Given the description of an element on the screen output the (x, y) to click on. 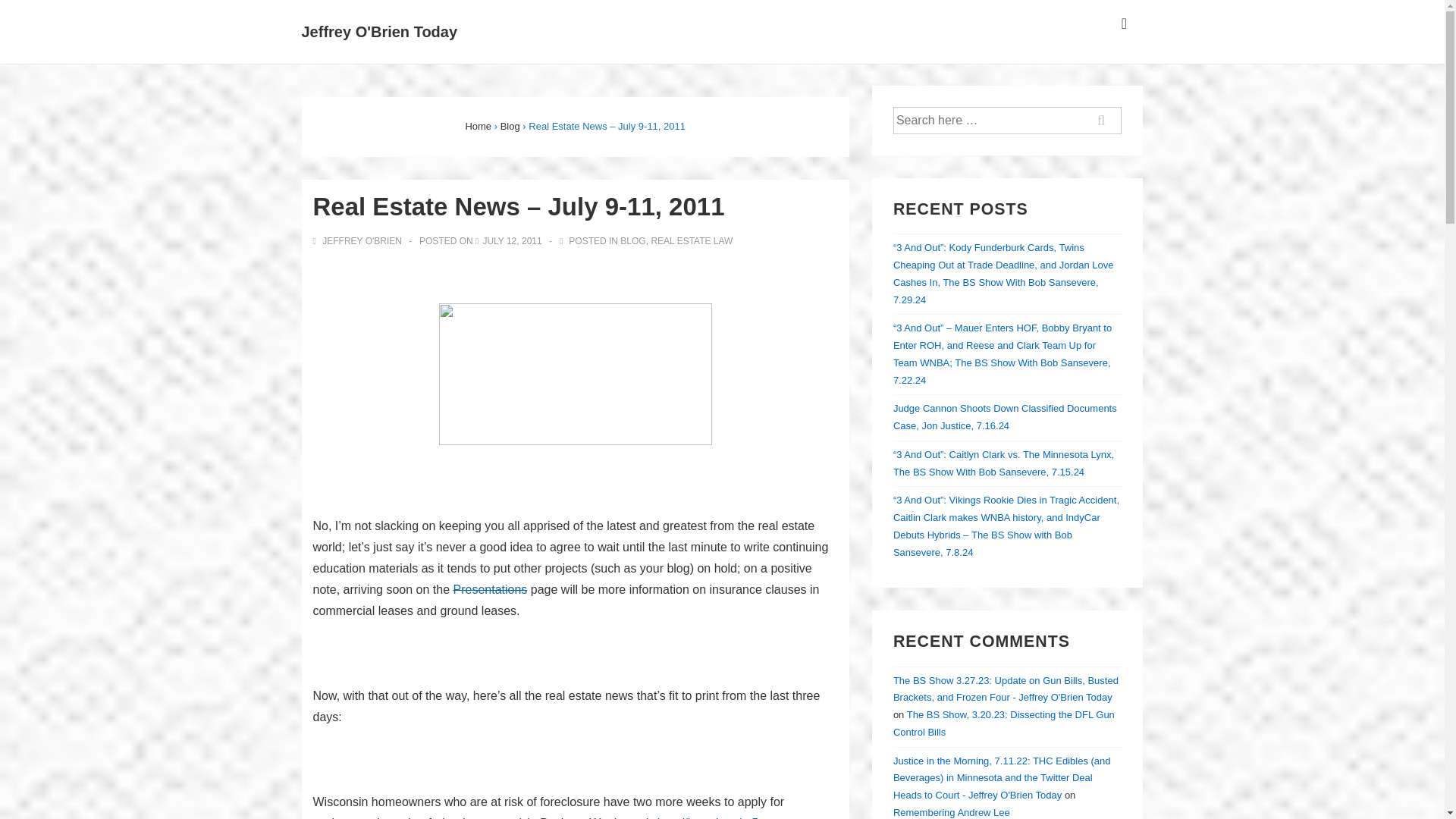
Home (478, 125)
Presentations (489, 589)
REAL ESTATE LAW (691, 240)
JULY 12, 2011 (511, 240)
BLOG (632, 240)
Blog (509, 125)
MENU (1123, 23)
Jeffrey O'Brien Today (379, 31)
View all posts by Jeffrey O'Brien (358, 240)
JEFFREY O'BRIEN (358, 240)
